Given the description of an element on the screen output the (x, y) to click on. 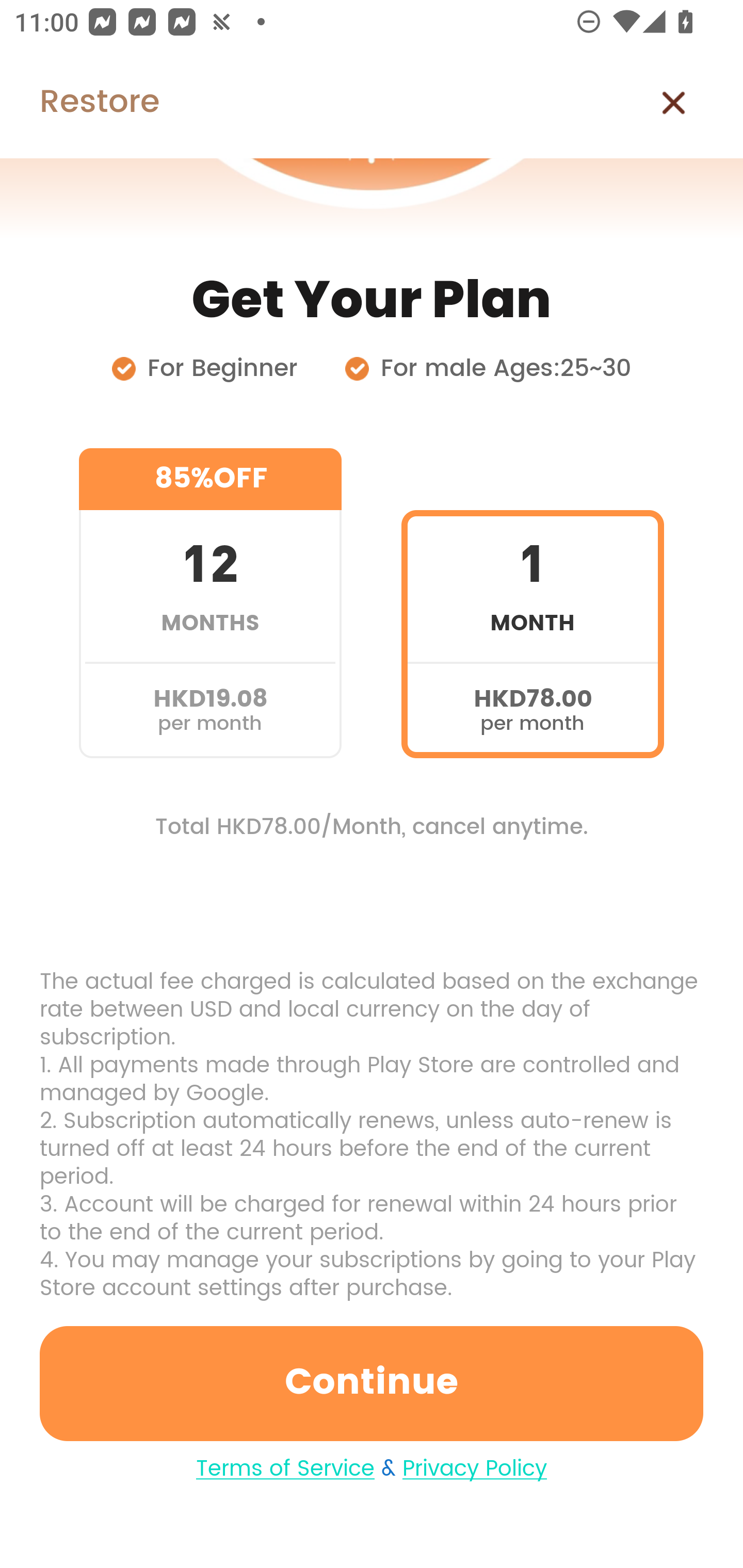
Restore (79, 102)
85%OFF 12 MONTHS per month HKD19.08 (209, 603)
1 MONTH per month HKD78.00 (532, 603)
Continue (371, 1383)
